Given the description of an element on the screen output the (x, y) to click on. 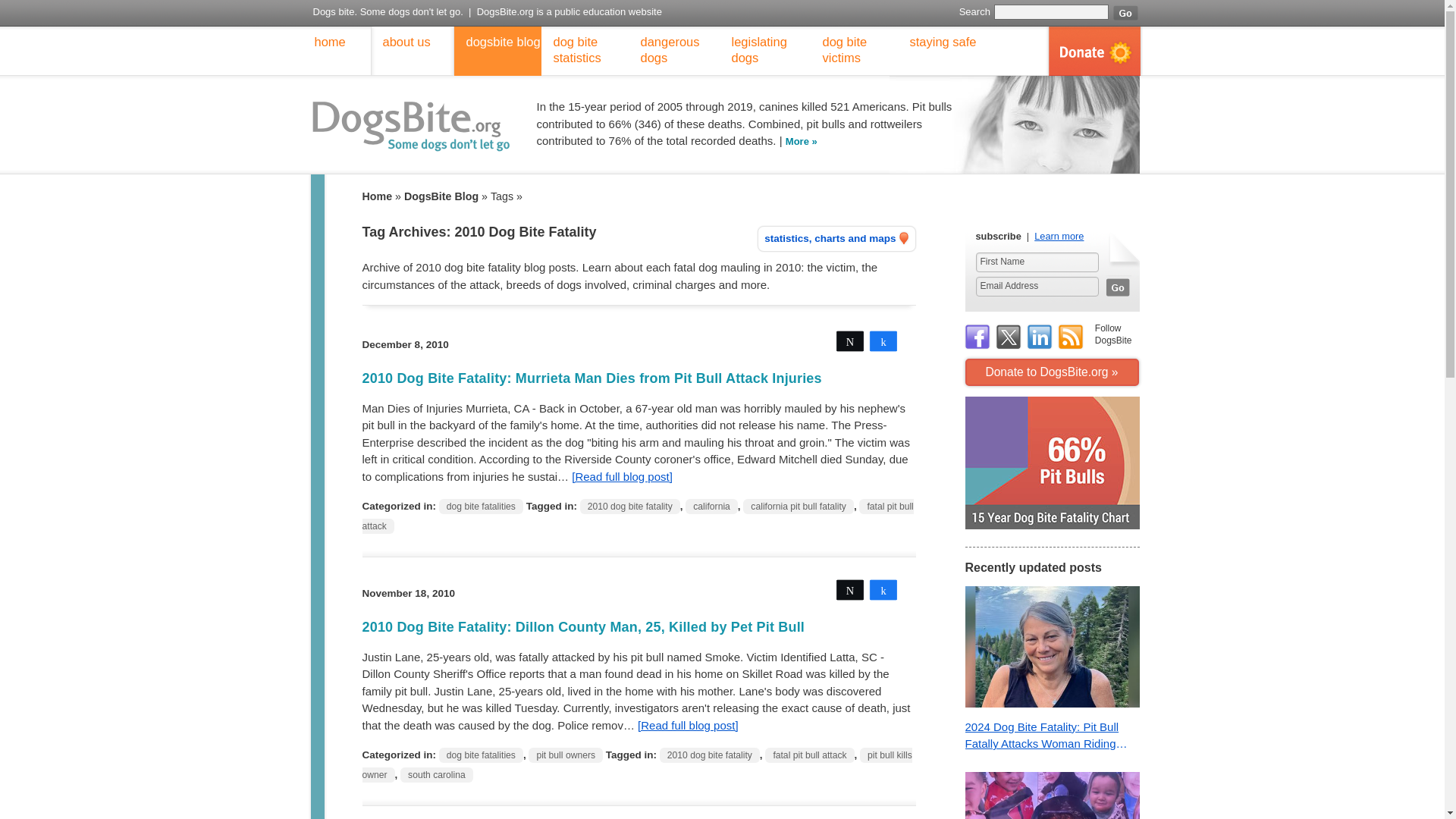
First Name (1036, 261)
about us (399, 51)
dogsbite blog (496, 51)
7:24 pm (405, 344)
dangerous dogs (673, 51)
7:28 pm (408, 592)
dog bite statistics (584, 51)
Email Address (1036, 286)
